Given the description of an element on the screen output the (x, y) to click on. 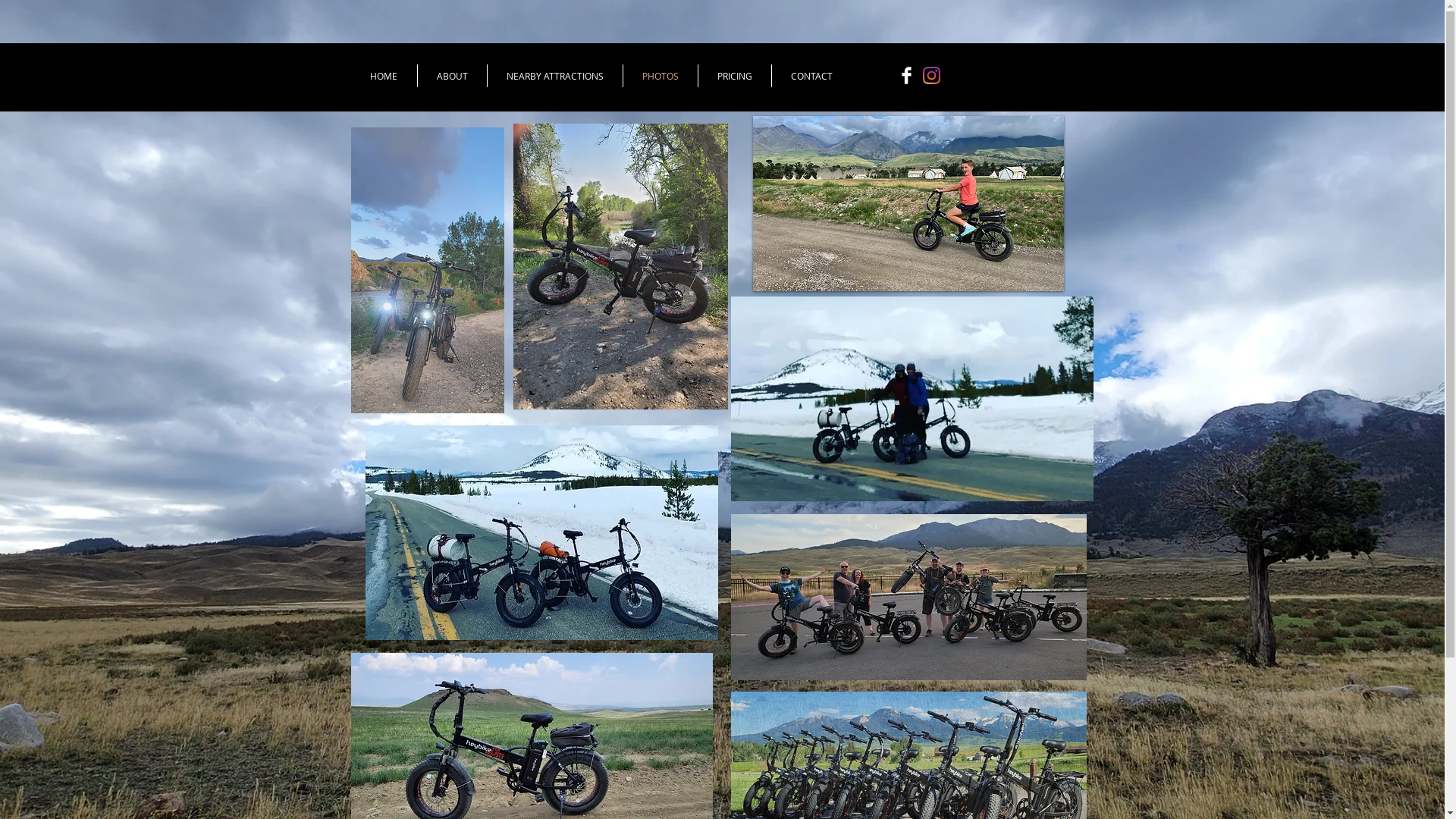
NEARBY ATTRACTIONS Element type: text (553, 75)
HOME Element type: text (383, 75)
20220617_204830_resized.jpg Element type: hover (426, 270)
20220801_185823.jpg Element type: hover (908, 597)
Screenshot_20230525_080832_Instagram.jpg Element type: hover (541, 532)
PHOTOS Element type: text (660, 75)
Screenshot_20230525_080836_Instagram.jpg Element type: hover (912, 398)
PRICING Element type: text (733, 75)
CONTACT Element type: text (811, 75)
Resized_2(1).jpg Element type: hover (619, 266)
ABOUT Element type: text (451, 75)
